Given the description of an element on the screen output the (x, y) to click on. 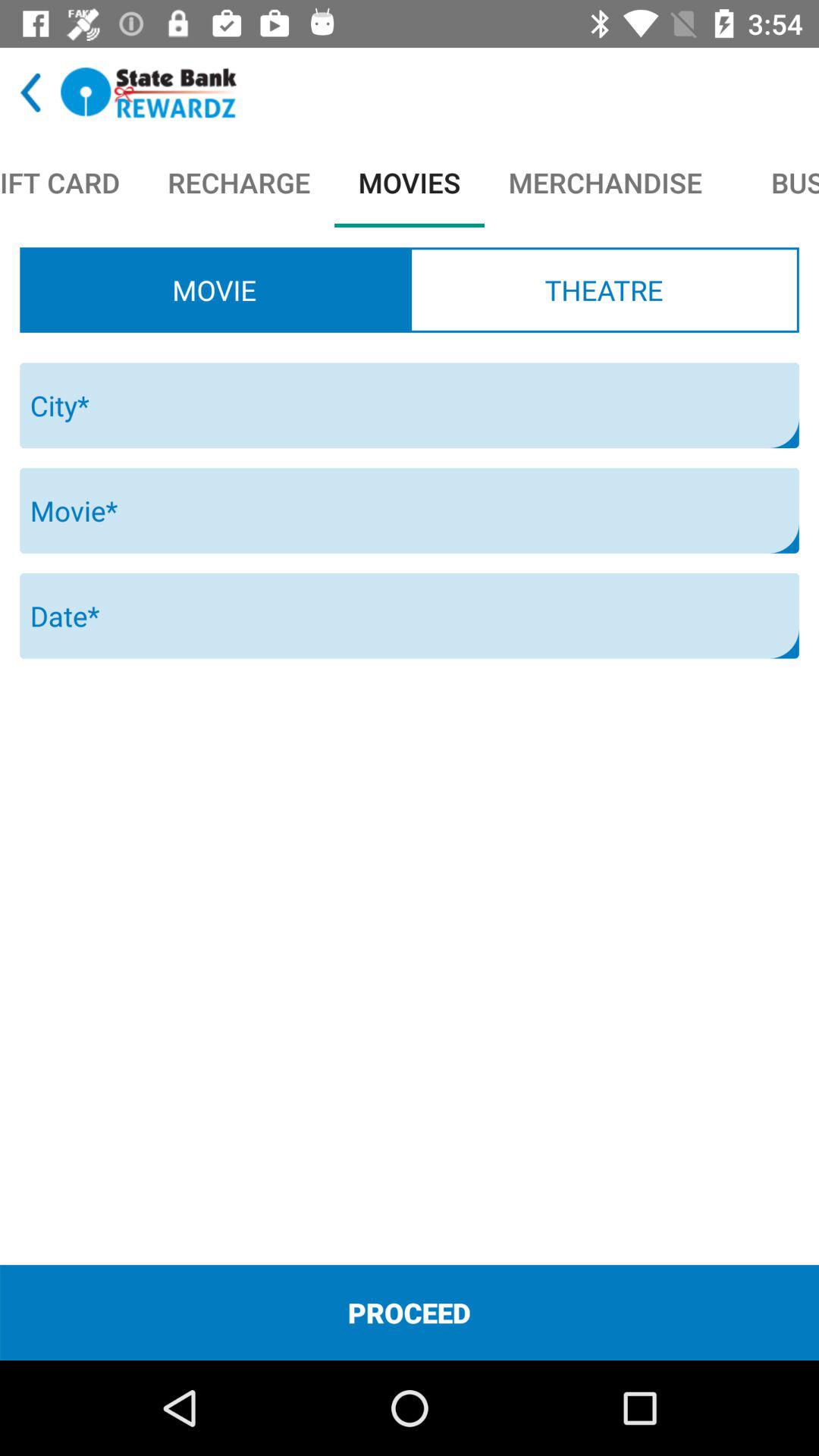
go back to previous (30, 92)
